Given the description of an element on the screen output the (x, y) to click on. 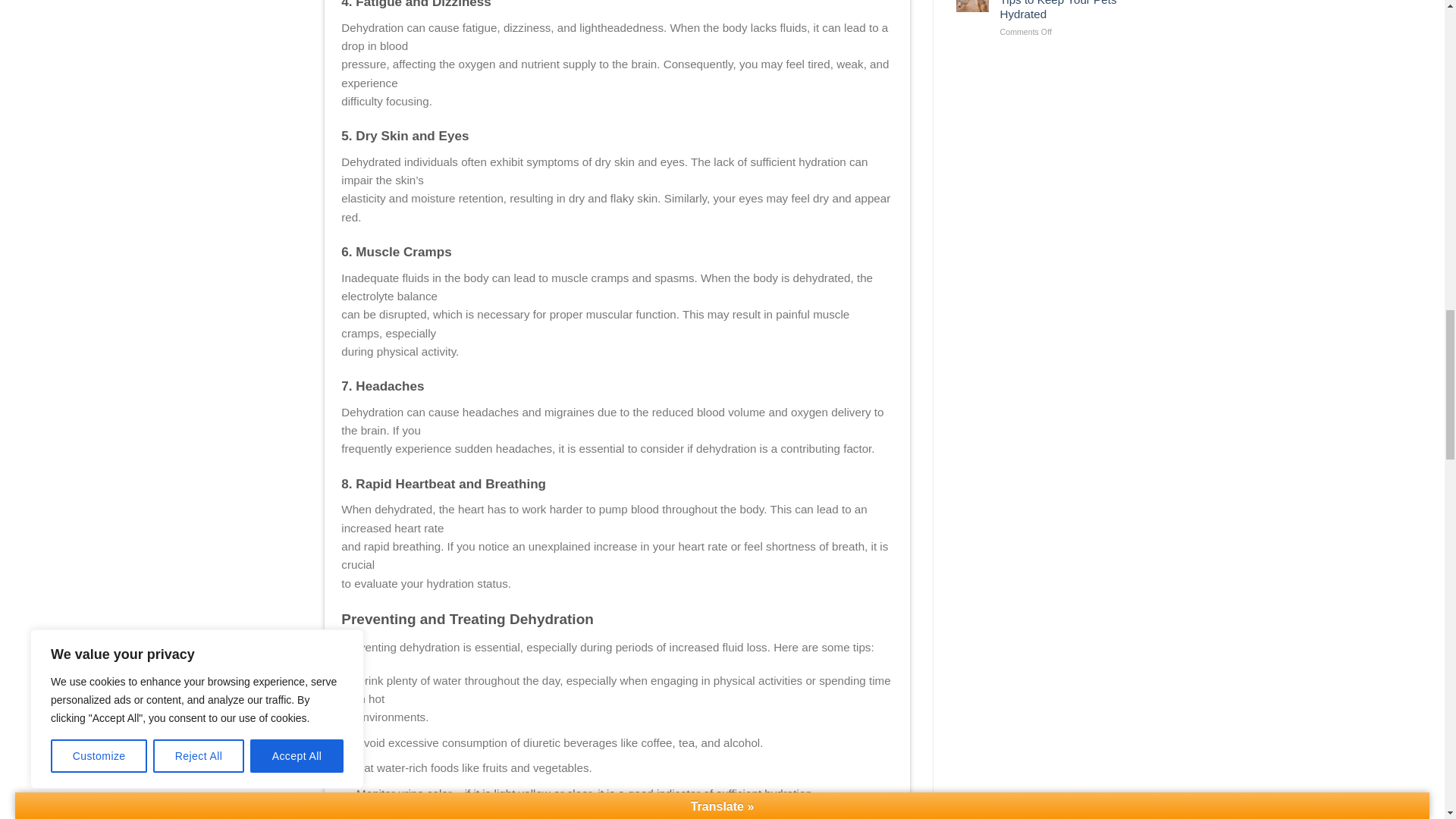
Quenching Their Thirst: Tips to Keep Your Pets Hydrated (1060, 10)
